Given the description of an element on the screen output the (x, y) to click on. 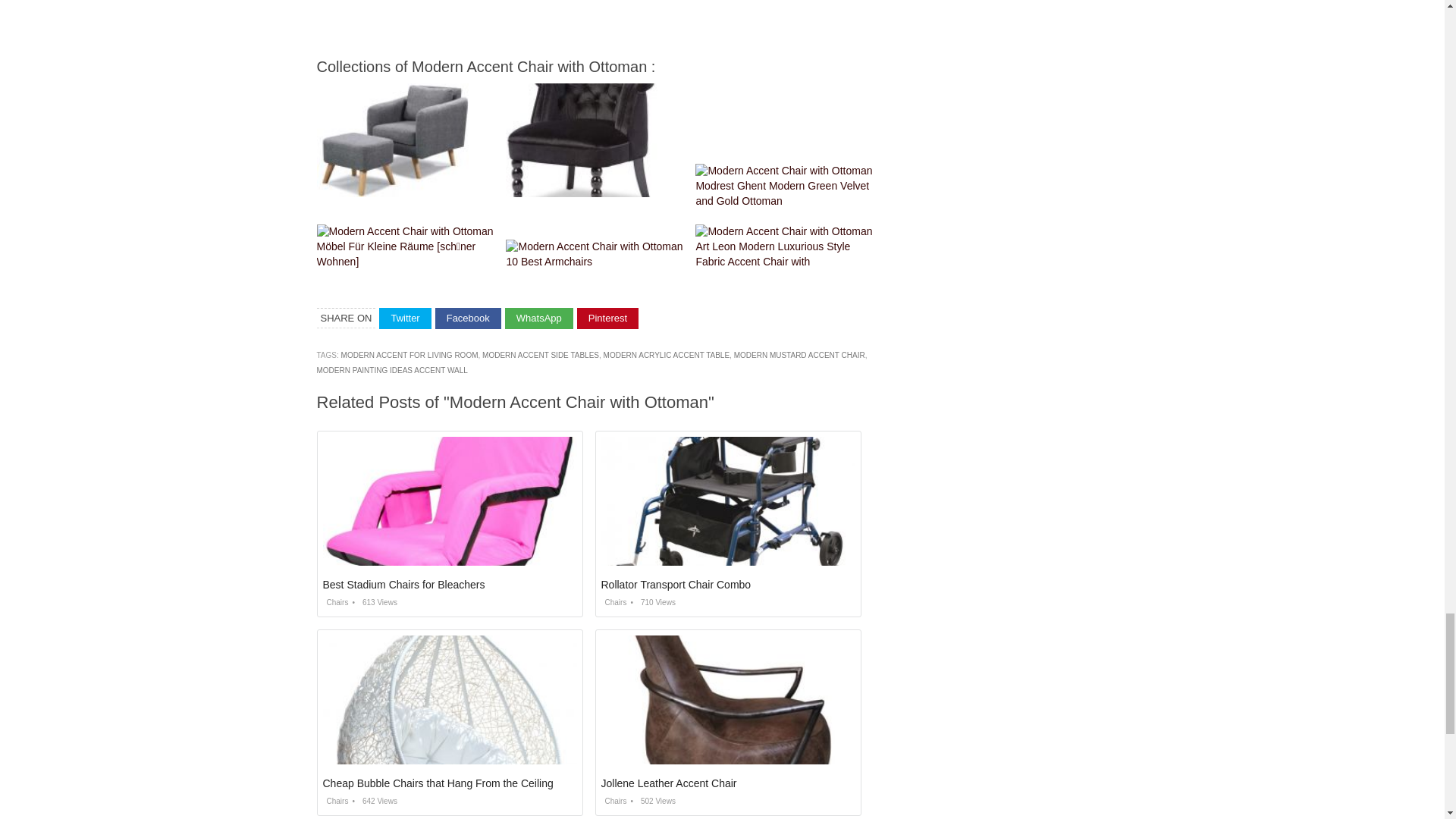
MODERN ACCENT FOR LIVING ROOM (409, 355)
Chairs (612, 602)
Chairs (336, 602)
Cheap Bubble Chairs that Hang From the Ceiling (438, 783)
MODERN ACRYLIC ACCENT TABLE (667, 355)
Twitter (404, 318)
Chairs (336, 800)
Rollator Transport Chair Combo (675, 584)
Facebook (467, 318)
Jollene Leather Accent Chair (667, 783)
Pinterest (607, 318)
MODERN ACCENT SIDE TABLES (539, 355)
